Given the description of an element on the screen output the (x, y) to click on. 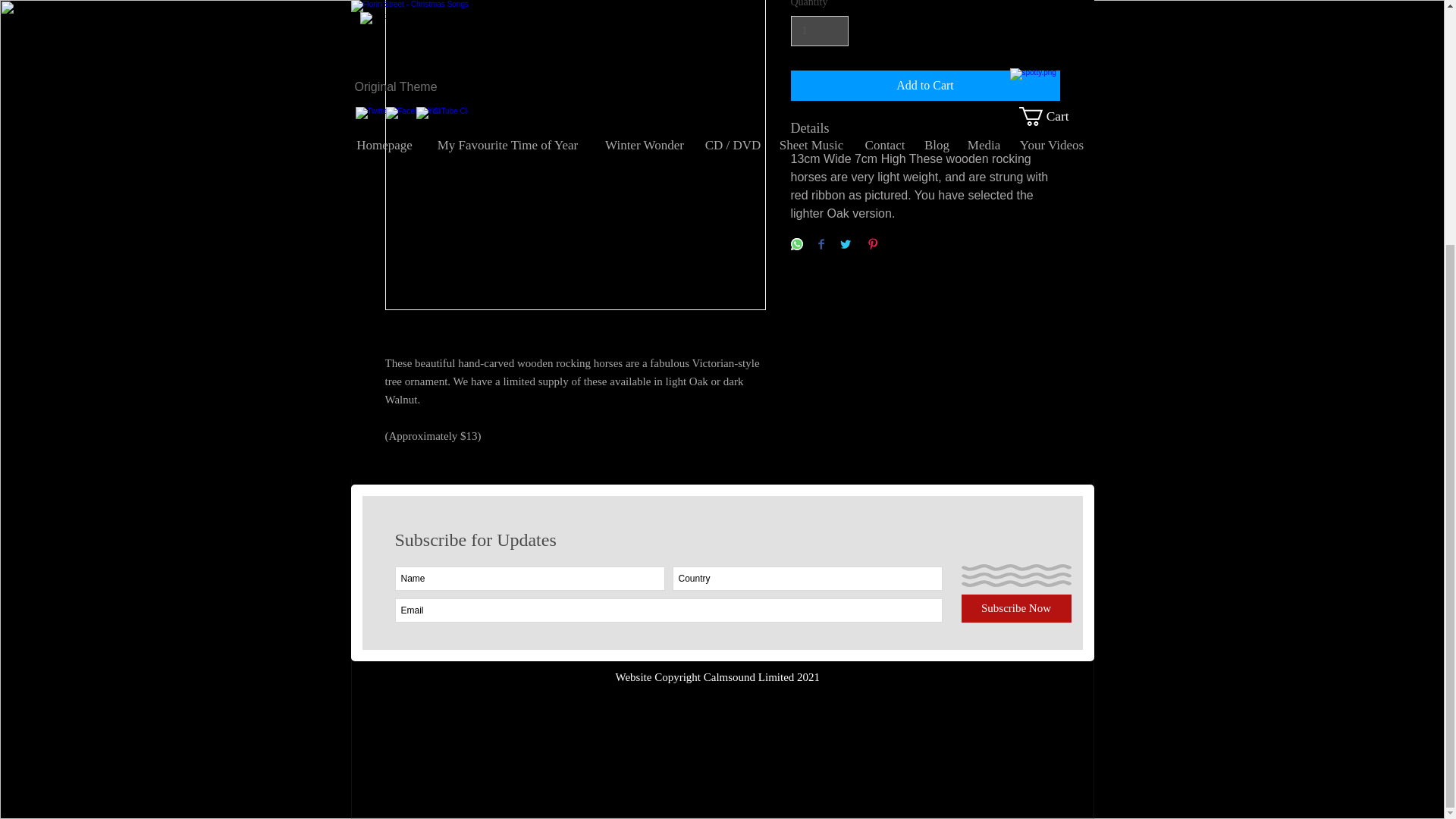
1 (818, 30)
Subscribe Now (1015, 608)
Add to Cart (924, 85)
